Given the description of an element on the screen output the (x, y) to click on. 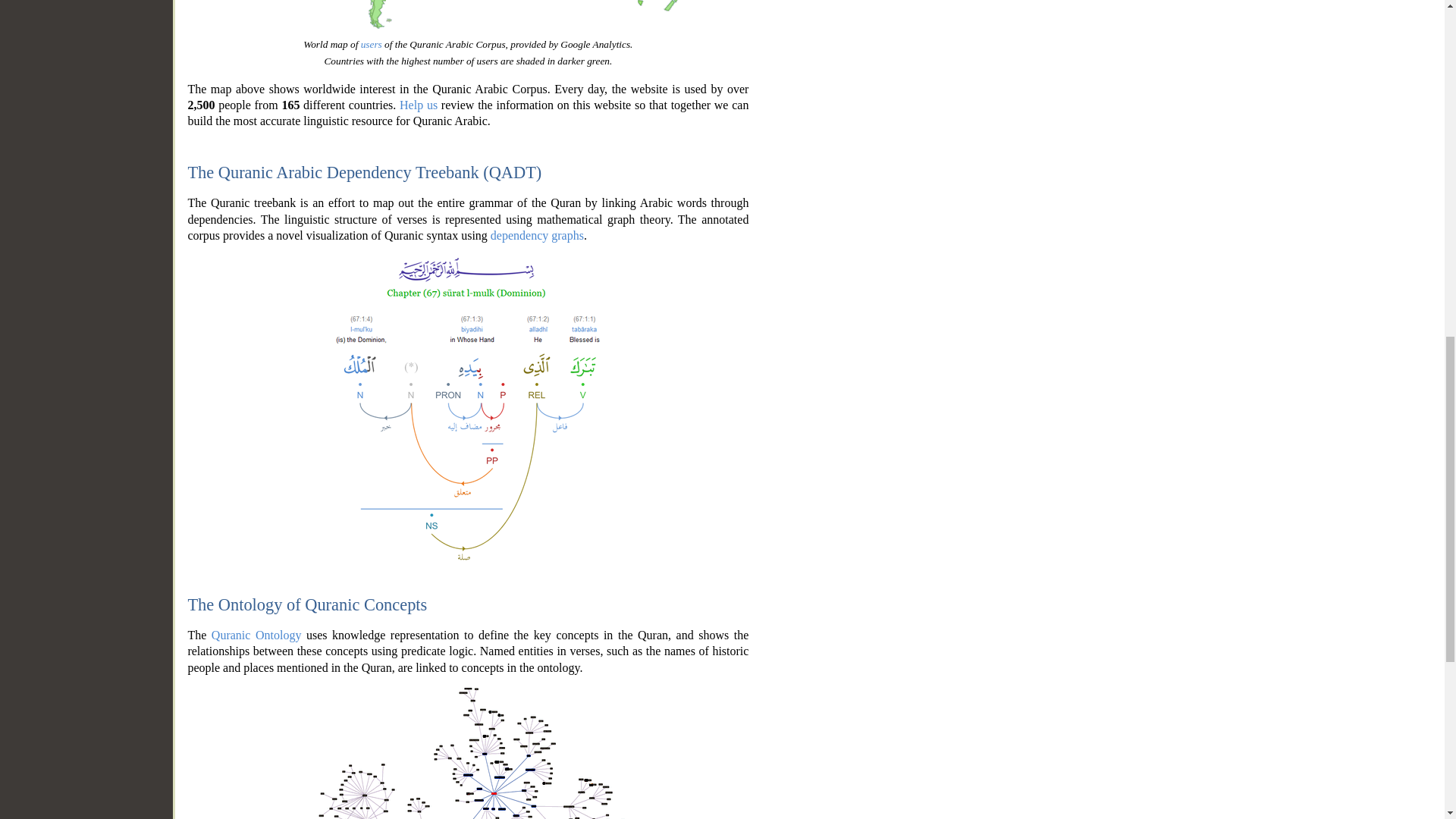
users (371, 43)
dependency graphs (536, 235)
Help us (418, 104)
Quranic Ontology (256, 634)
